Given the description of an element on the screen output the (x, y) to click on. 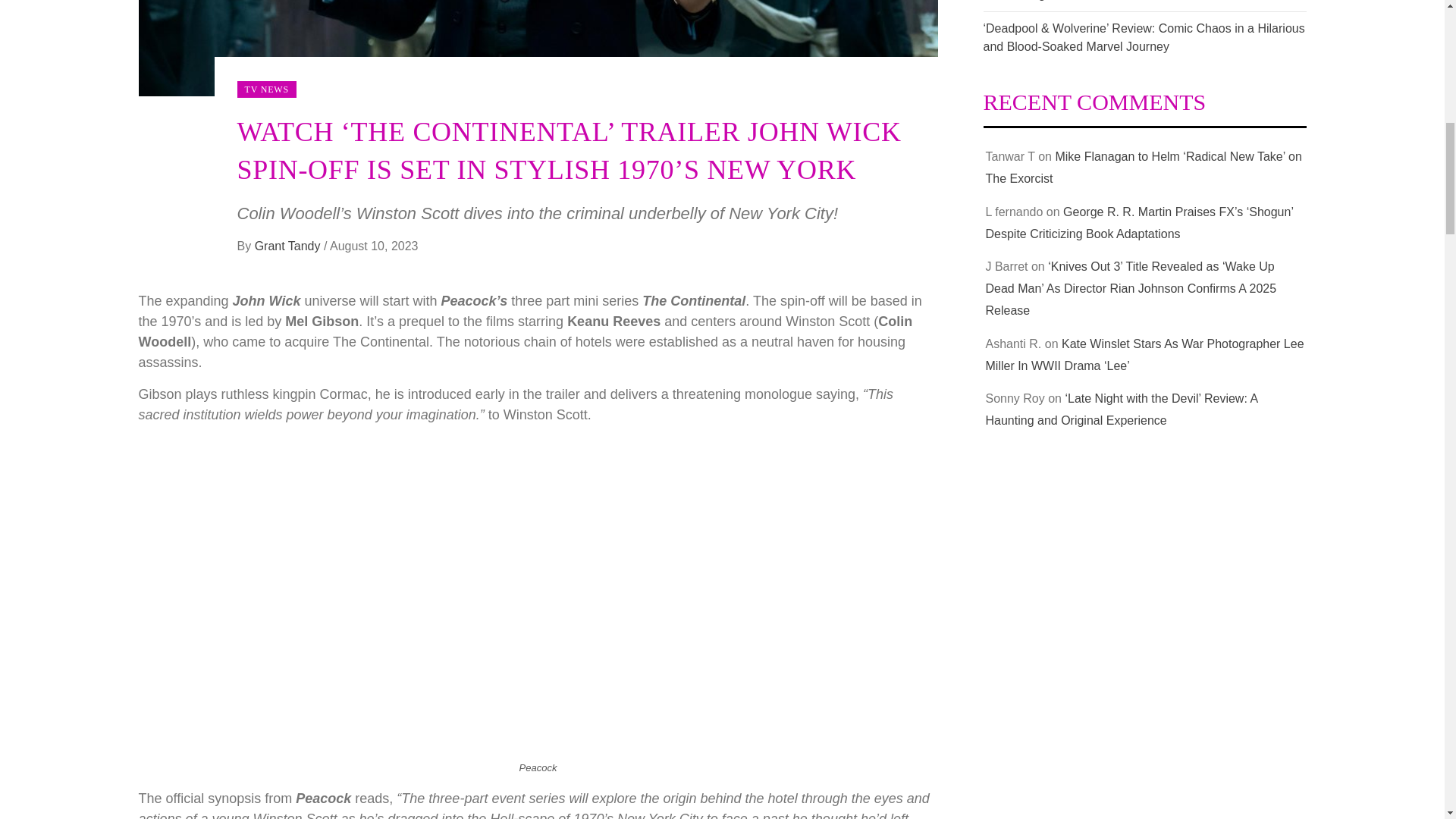
TV NEWS (265, 89)
Grant Tandy (288, 245)
